Given the description of an element on the screen output the (x, y) to click on. 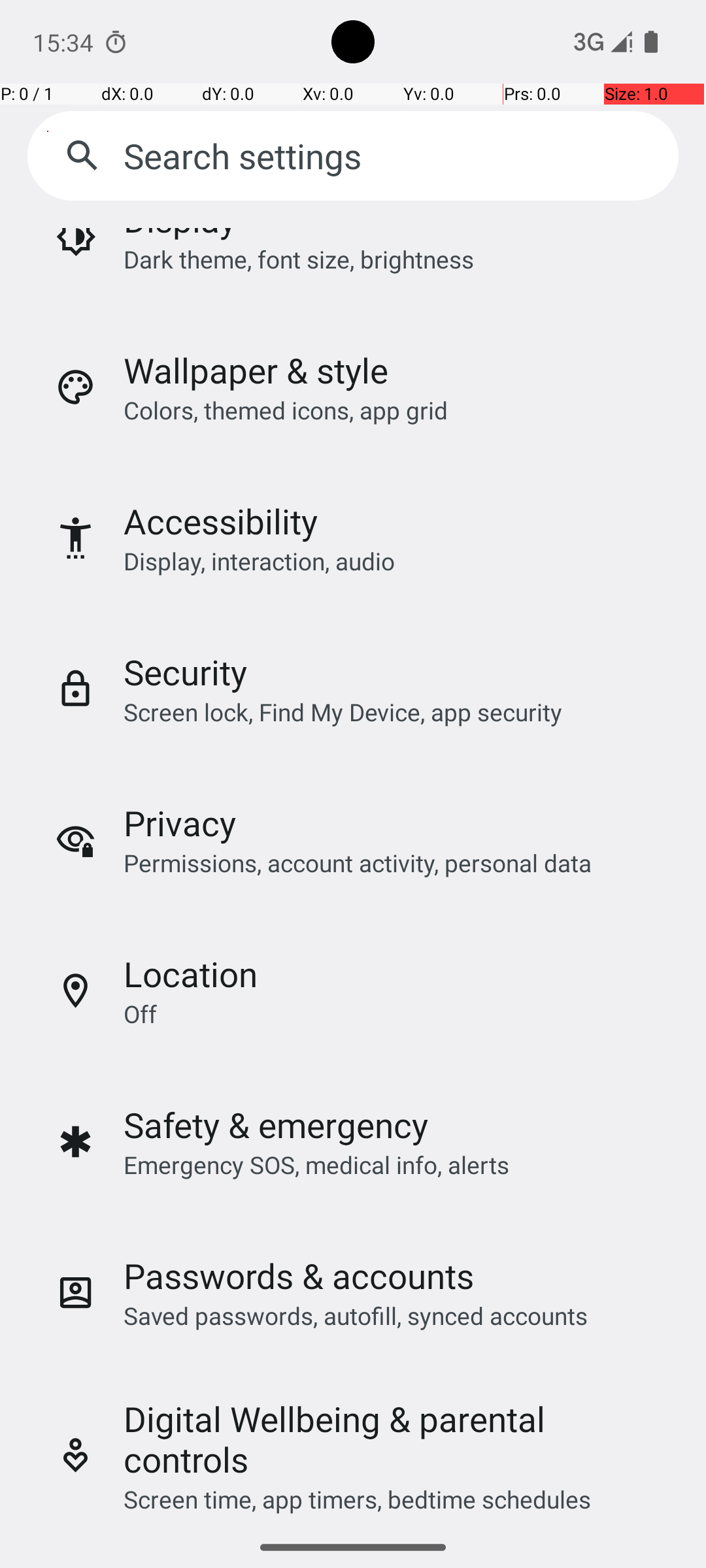
Display Element type: android.widget.TextView (179, 235)
Dark theme, font size, brightness Element type: android.widget.TextView (298, 258)
Wallpaper & style Element type: android.widget.TextView (255, 369)
Colors, themed icons, app grid Element type: android.widget.TextView (285, 409)
Accessibility Element type: android.widget.TextView (220, 520)
Display, interaction, audio Element type: android.widget.TextView (259, 560)
Screen lock, Find My Device, app security Element type: android.widget.TextView (342, 711)
Permissions, account activity, personal data Element type: android.widget.TextView (357, 862)
Safety & emergency Element type: android.widget.TextView (275, 1124)
Emergency SOS, medical info, alerts Element type: android.widget.TextView (316, 1164)
Passwords & accounts Element type: android.widget.TextView (298, 1275)
Saved passwords, autofill, synced accounts Element type: android.widget.TextView (355, 1315)
Digital Wellbeing & parental controls Element type: android.widget.TextView (393, 1438)
Screen time, app timers, bedtime schedules Element type: android.widget.TextView (356, 1498)
